Given the description of an element on the screen output the (x, y) to click on. 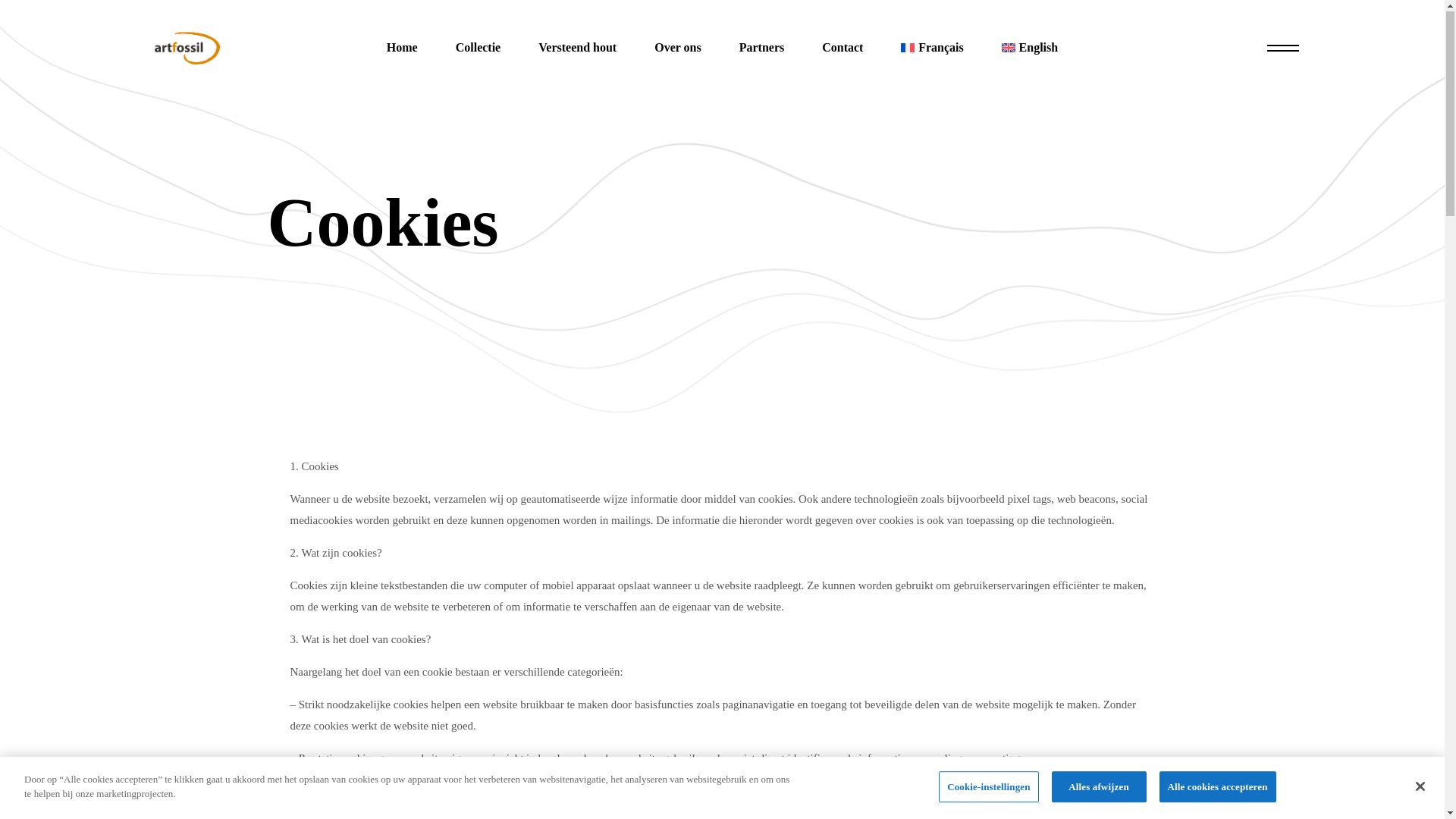
Versteend hout Element type: text (577, 47)
Alles afwijzen Element type: text (1098, 787)
English Element type: text (1029, 48)
Collectie Element type: text (478, 47)
Contact Element type: text (842, 47)
Cookie-instellingen Element type: text (988, 787)
Home Element type: text (401, 47)
Alle cookies accepteren Element type: text (1217, 787)
Over ons Element type: text (677, 47)
Partners Element type: text (761, 47)
